Given the description of an element on the screen output the (x, y) to click on. 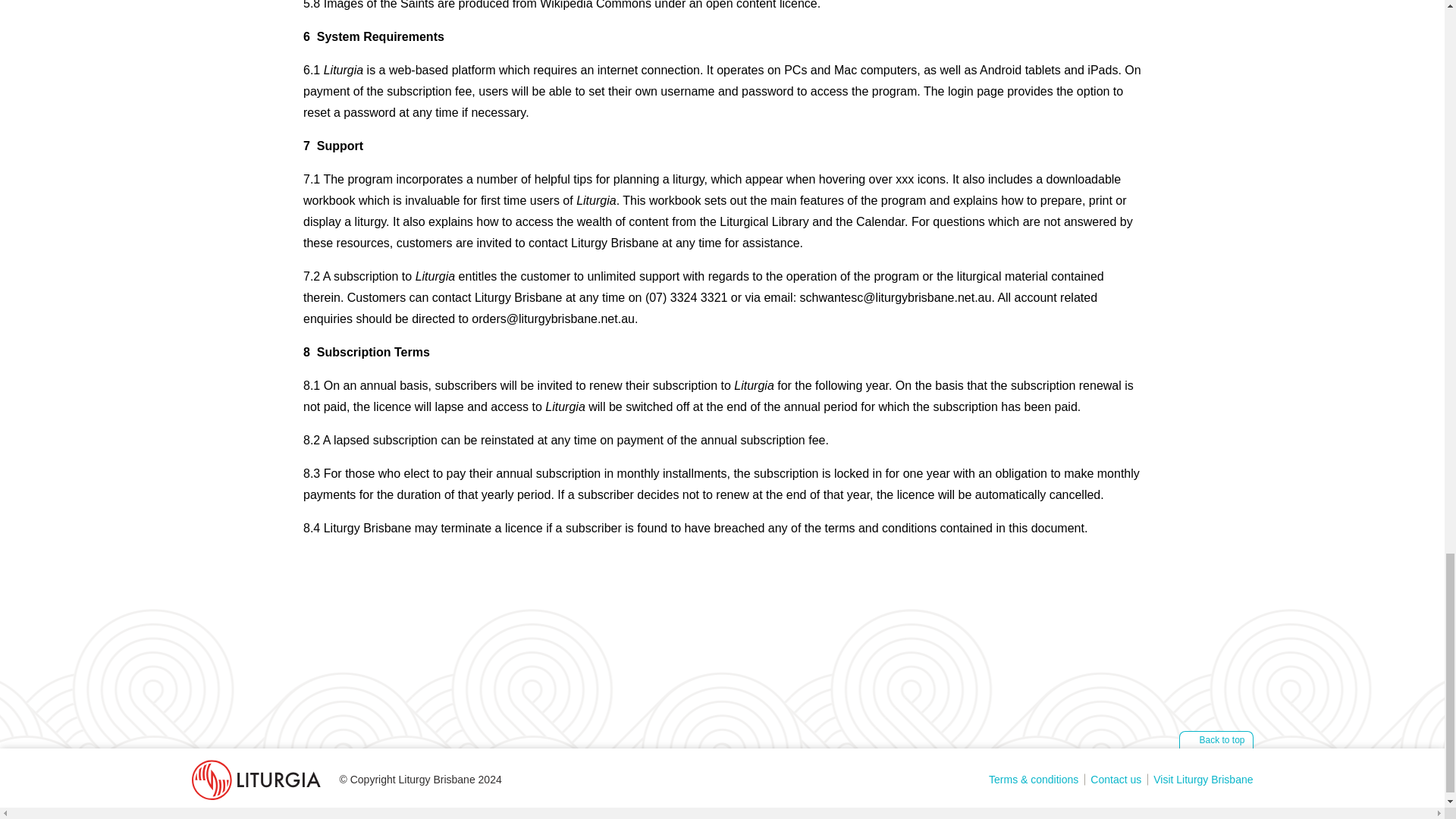
Back to top (1215, 739)
Visit Liturgy Brisbane (1199, 779)
Contact us (1115, 779)
